Given the description of an element on the screen output the (x, y) to click on. 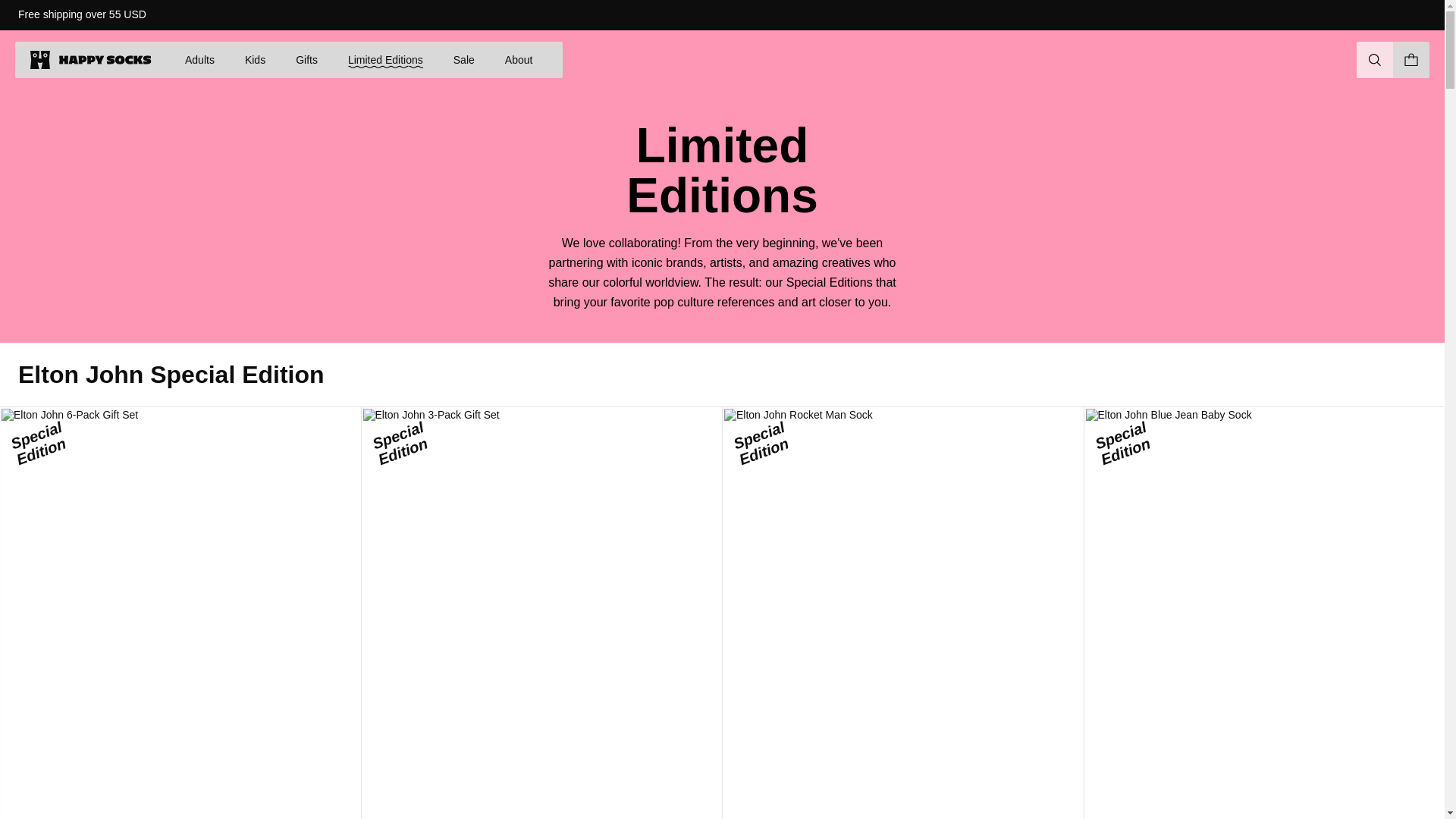
About (518, 59)
Adults (200, 59)
Gifts (307, 59)
Kids (255, 59)
Sale (463, 59)
Limited Editions (385, 59)
